Given the description of an element on the screen output the (x, y) to click on. 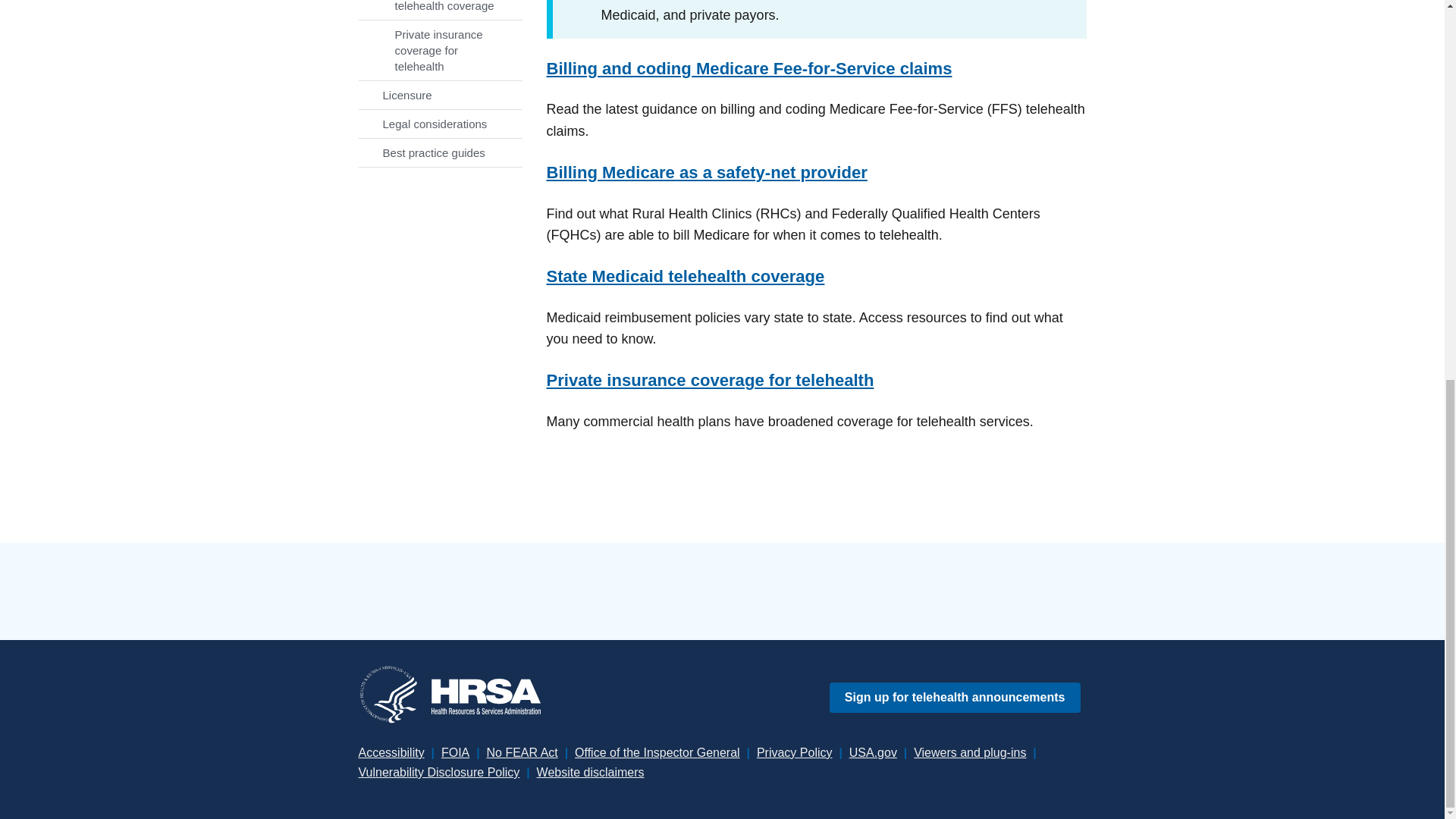
Licensure (439, 94)
Best practice guides (439, 152)
Legal considerations (439, 123)
State Medicaid telehealth coverage (439, 9)
Private insurance coverage for telehealth (439, 50)
